Given the description of an element on the screen output the (x, y) to click on. 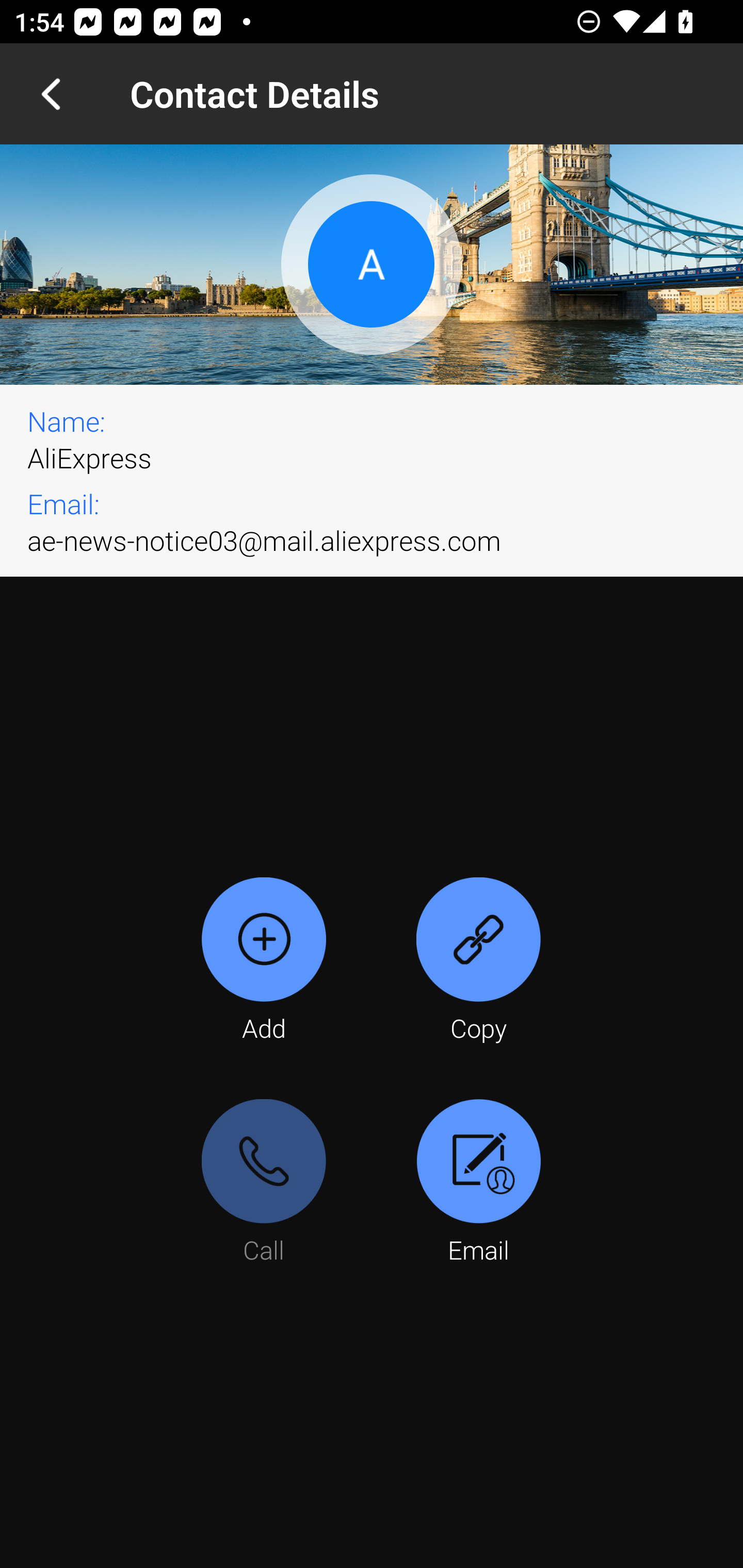
Navigate up (50, 93)
Add (264, 961)
Copy (478, 961)
Call (264, 1182)
Email (478, 1182)
